Given the description of an element on the screen output the (x, y) to click on. 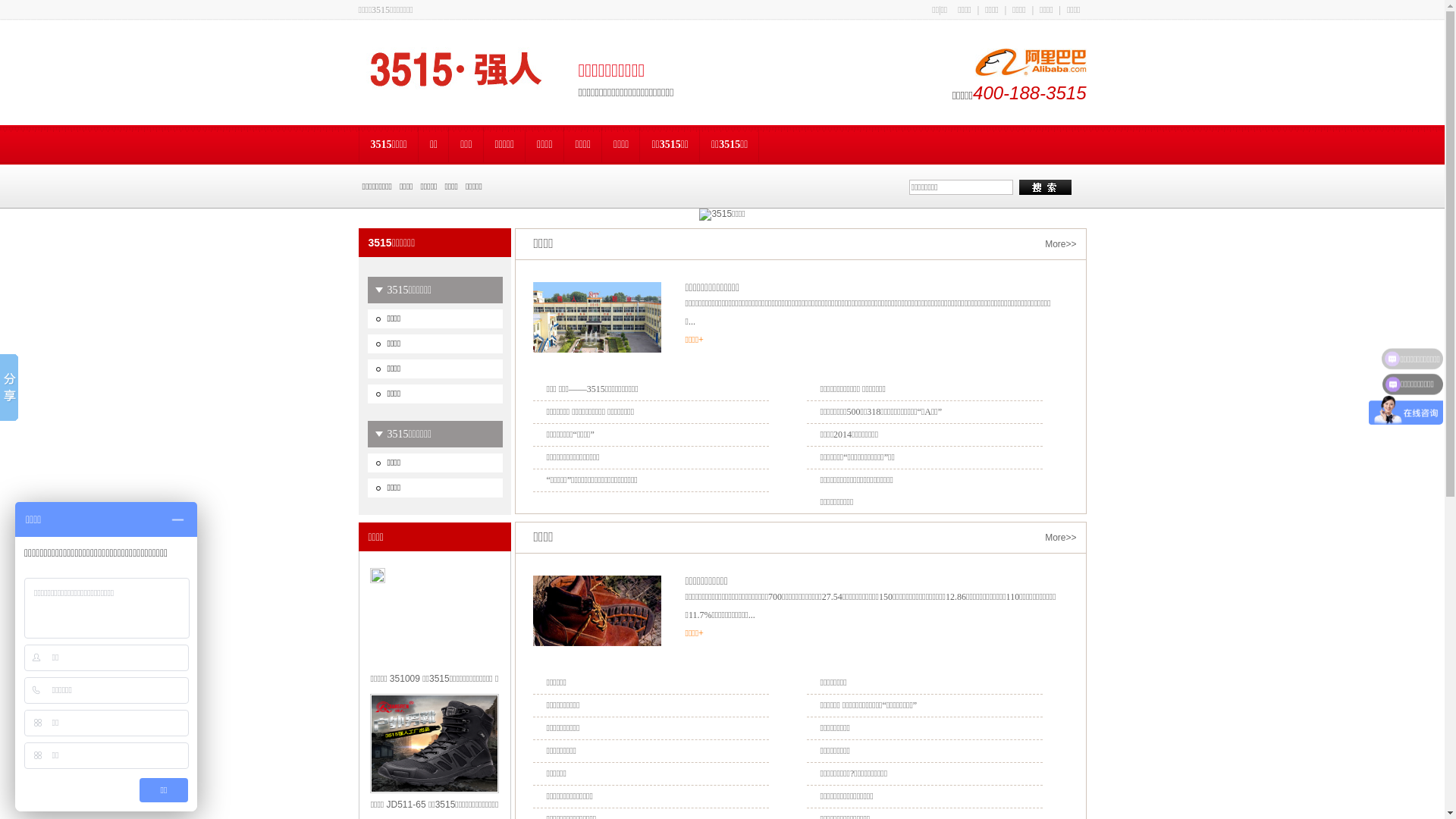
More>> Element type: text (1060, 537)
More>> Element type: text (1060, 243)
